Given the description of an element on the screen output the (x, y) to click on. 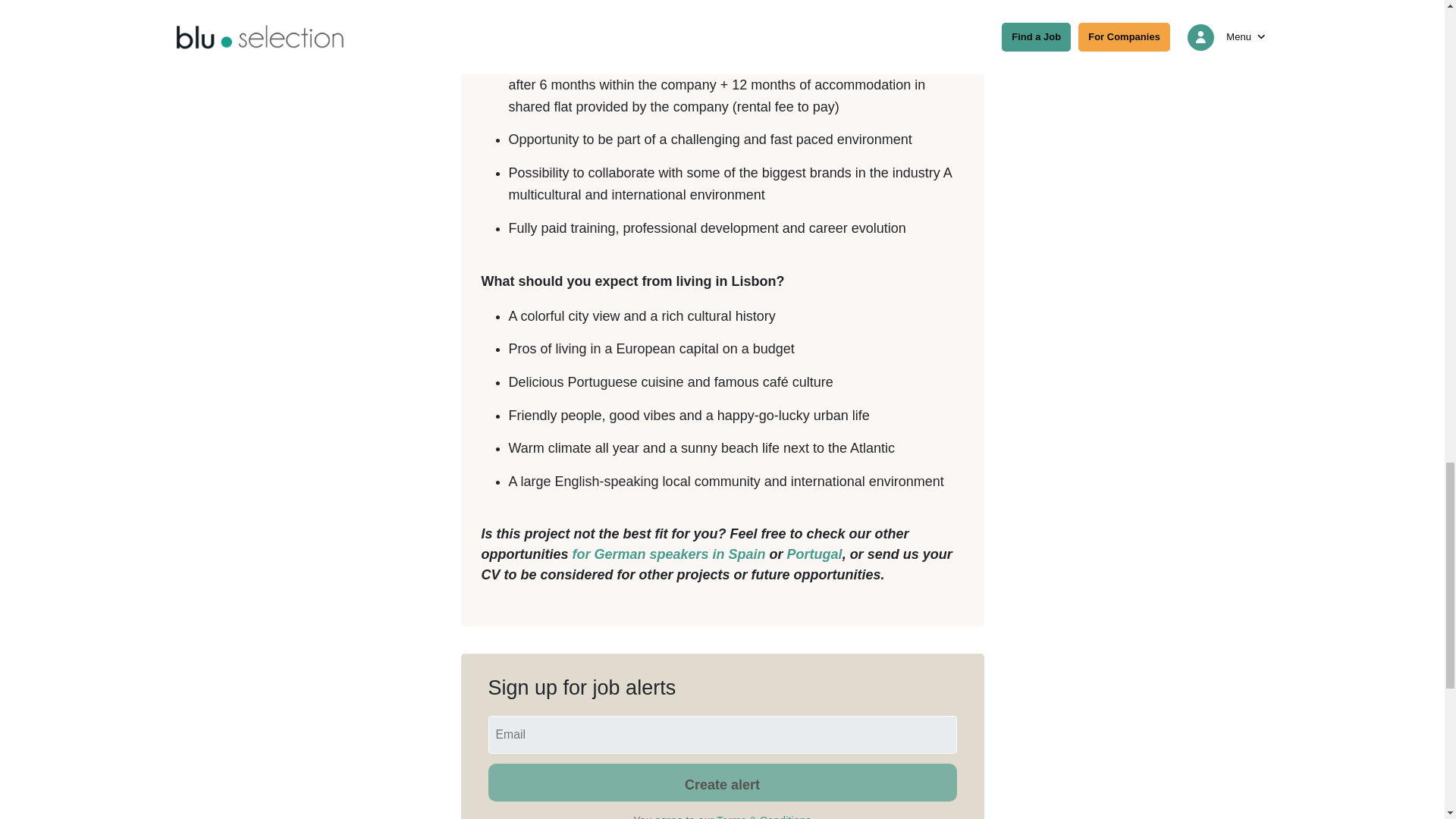
Create alert (721, 782)
Portugal (815, 554)
for German speakers in Spain (668, 554)
